Given the description of an element on the screen output the (x, y) to click on. 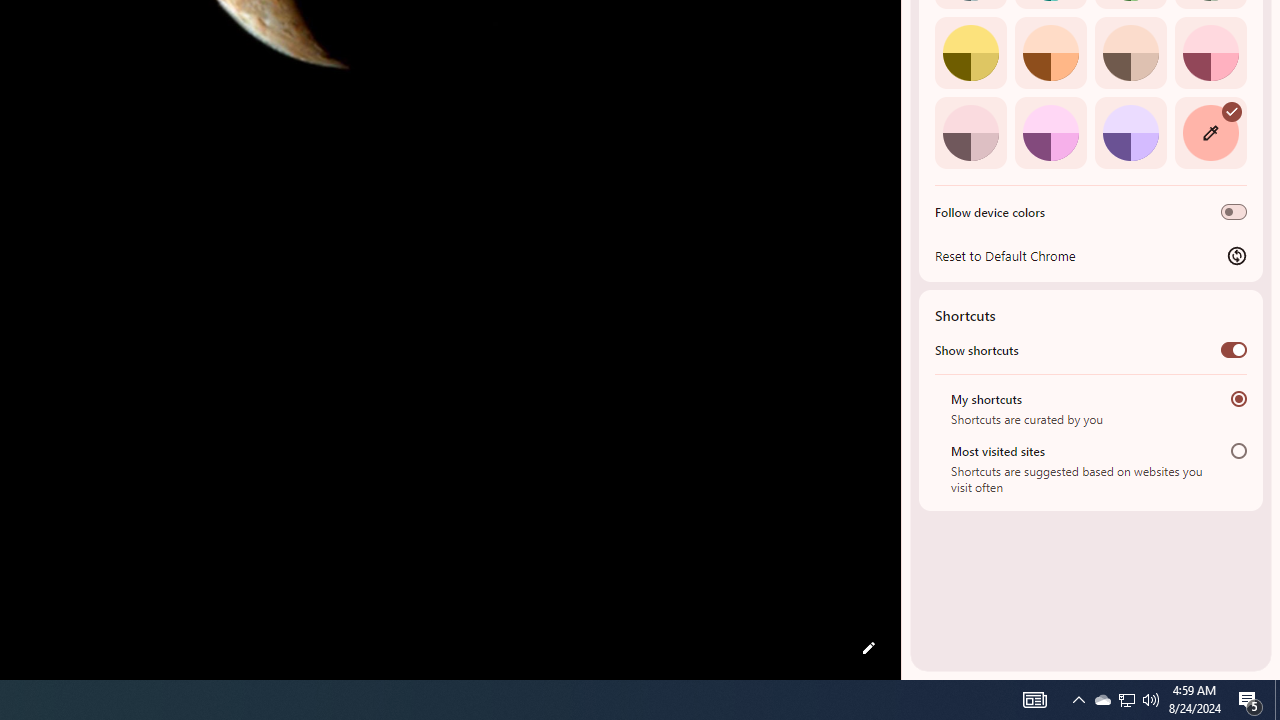
Most visited sites (1238, 450)
Custom color (1210, 132)
Violet (1130, 132)
Show shortcuts (1233, 349)
Reset to Default Chrome (1091, 255)
Rose (1210, 52)
Customize this page (868, 647)
Fuchsia (1050, 132)
My shortcuts (1238, 398)
Side Panel Resize Handle (905, 39)
AutomationID: svg (1231, 110)
Citron (970, 52)
Orange (1050, 52)
Apricot (1130, 52)
